Given the description of an element on the screen output the (x, y) to click on. 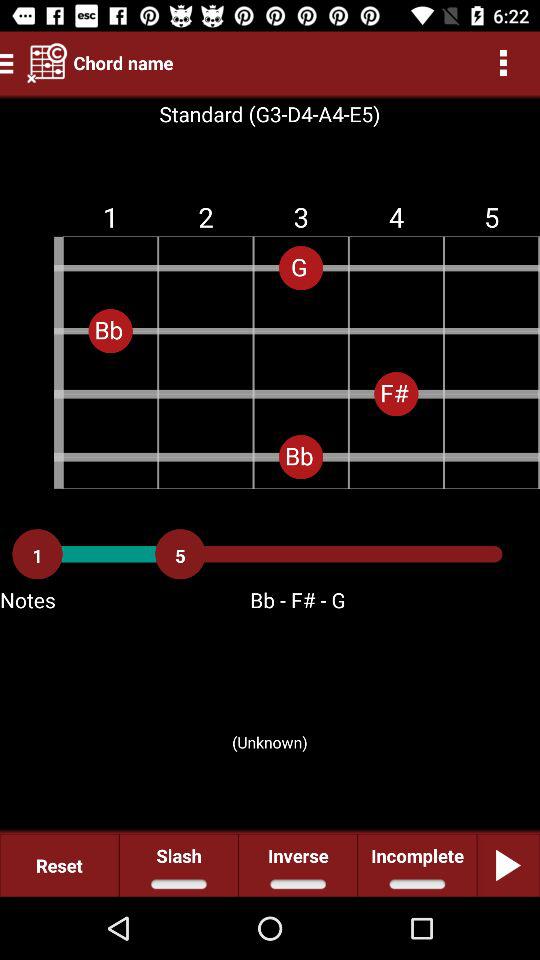
flip until the slash (178, 864)
